Given the description of an element on the screen output the (x, y) to click on. 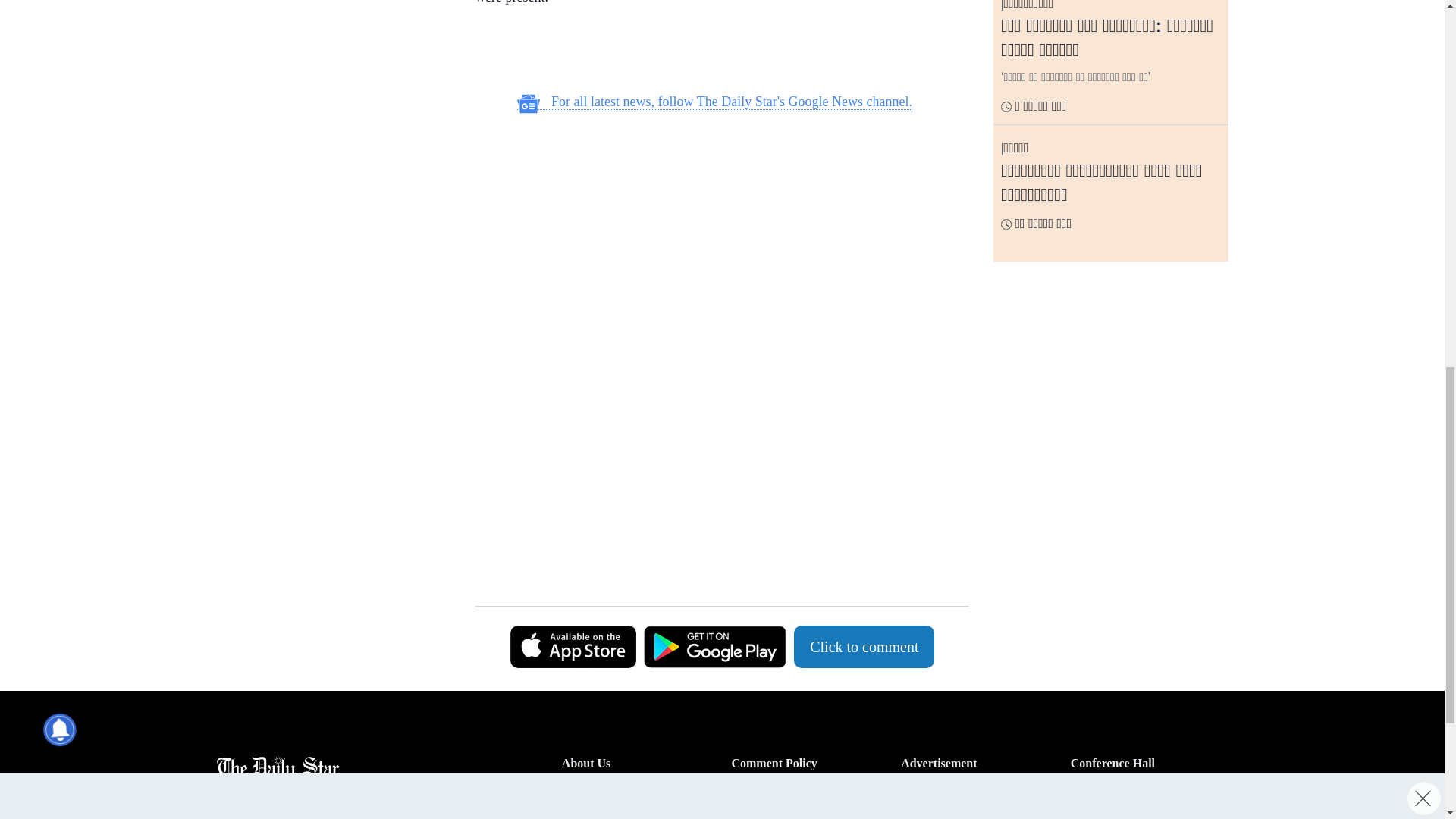
3rd party ad content (713, 427)
3rd party ad content (713, 222)
3rd party ad content (714, 567)
3rd party ad content (332, 51)
3rd party ad content (714, 51)
3rd party ad content (332, 212)
